Given the description of an element on the screen output the (x, y) to click on. 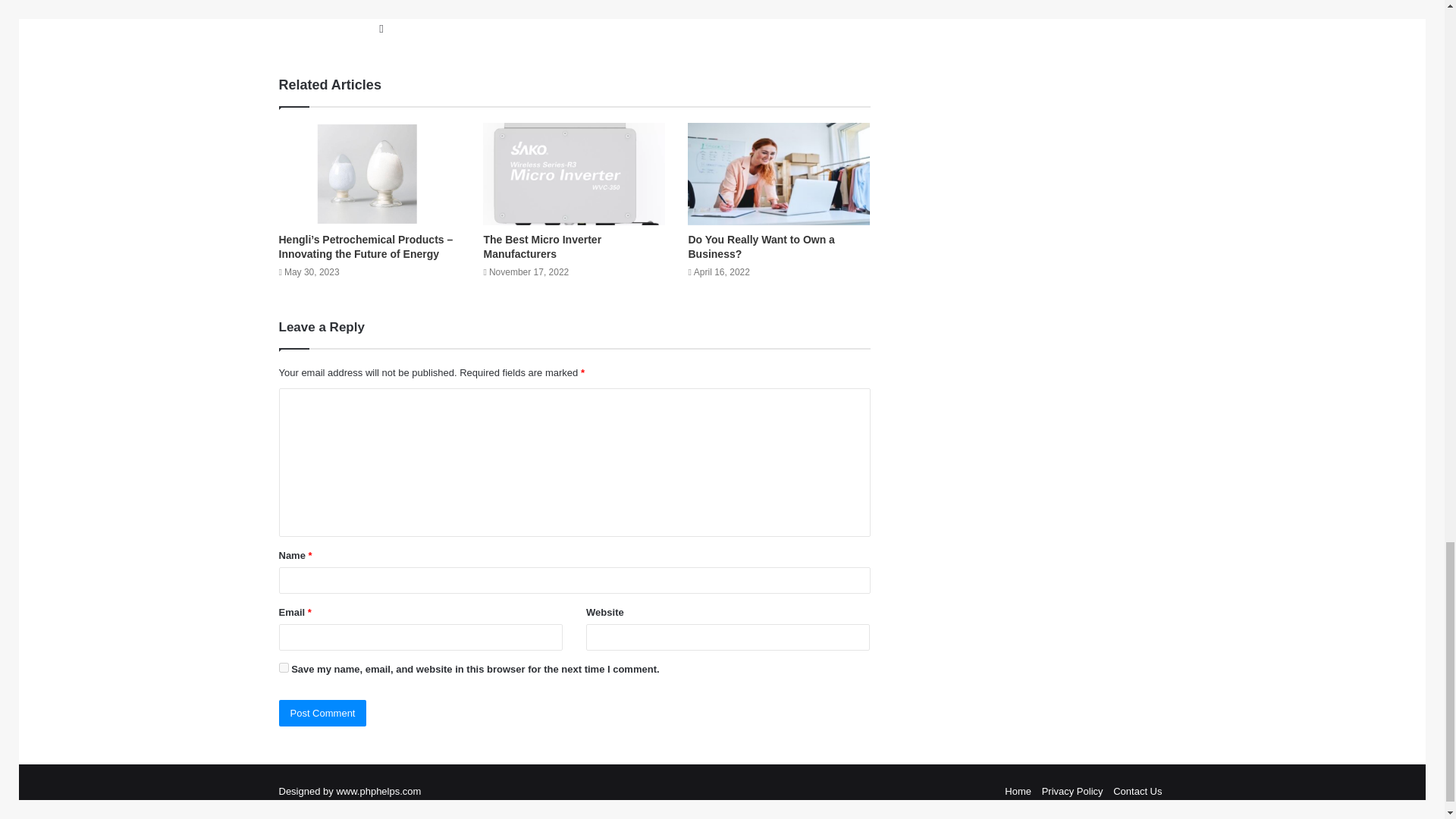
The Best Micro Inverter Manufacturers (542, 246)
Post Comment (322, 713)
Website (381, 28)
yes (283, 667)
admin (392, 4)
